Given the description of an element on the screen output the (x, y) to click on. 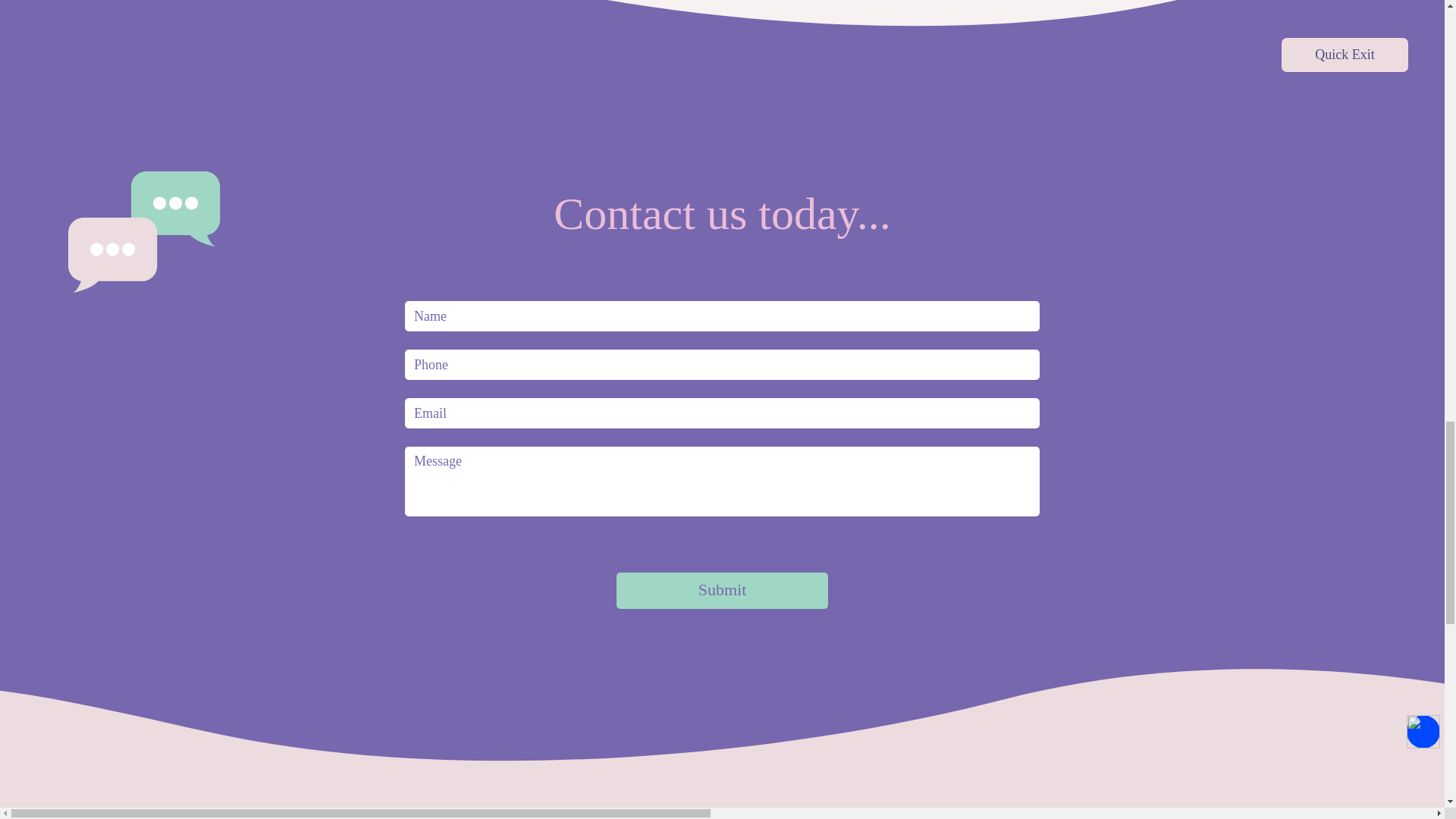
Submit (721, 590)
